Given the description of an element on the screen output the (x, y) to click on. 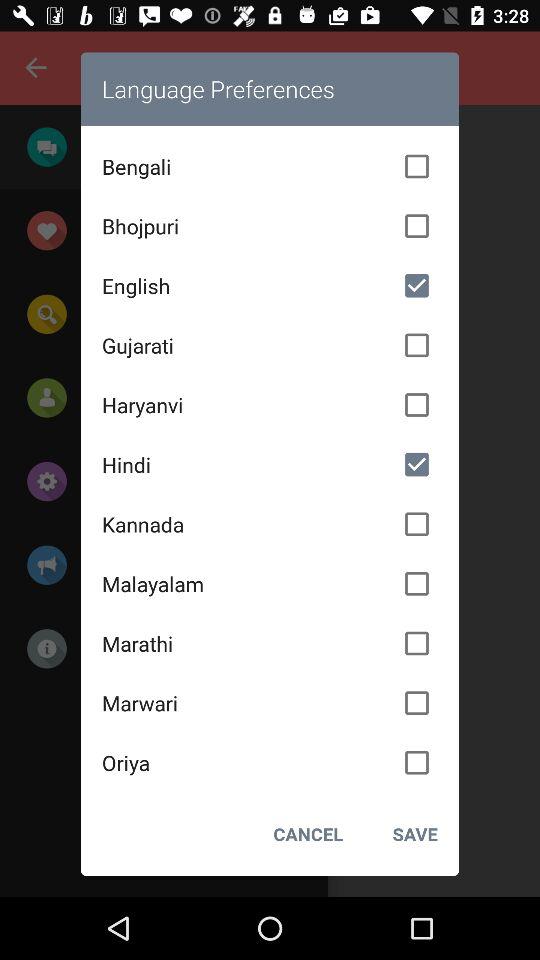
press item next to save item (307, 833)
